Given the description of an element on the screen output the (x, y) to click on. 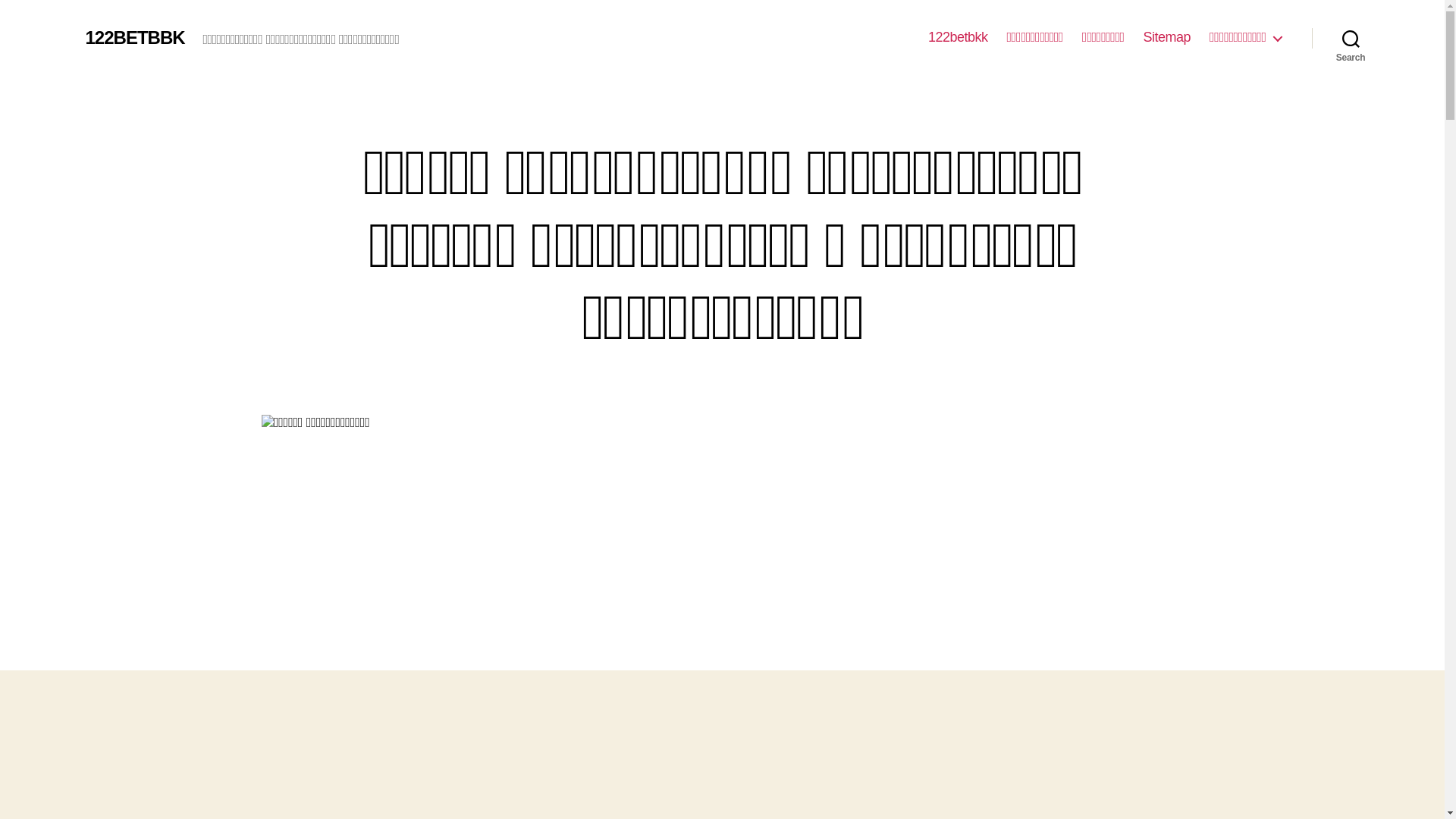
122betbkk Element type: text (958, 37)
Sitemap Element type: text (1167, 37)
Search Element type: text (1350, 37)
122BETBBK Element type: text (134, 37)
